Given the description of an element on the screen output the (x, y) to click on. 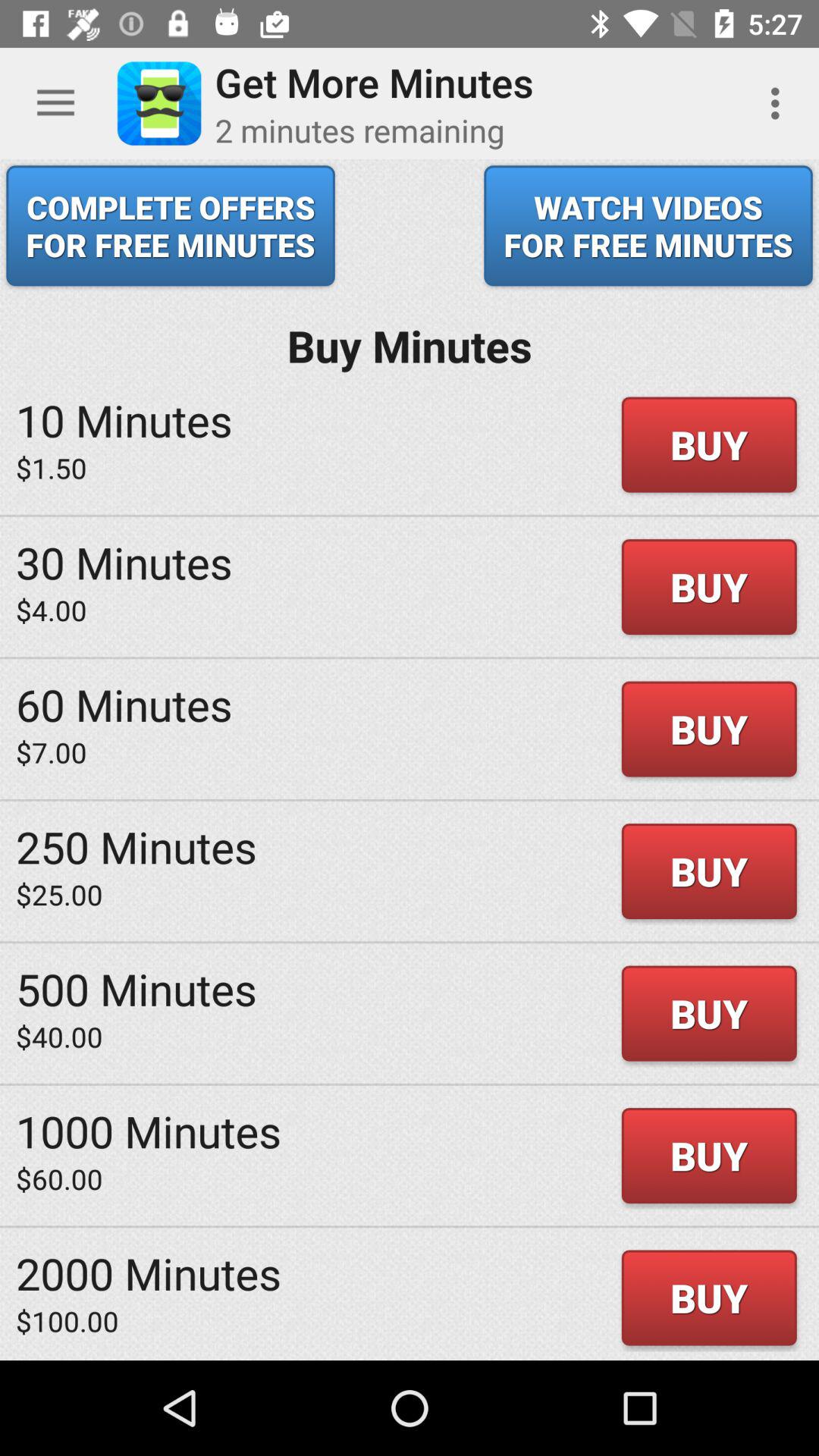
select the icon above the $40.00 item (136, 988)
